Given the description of an element on the screen output the (x, y) to click on. 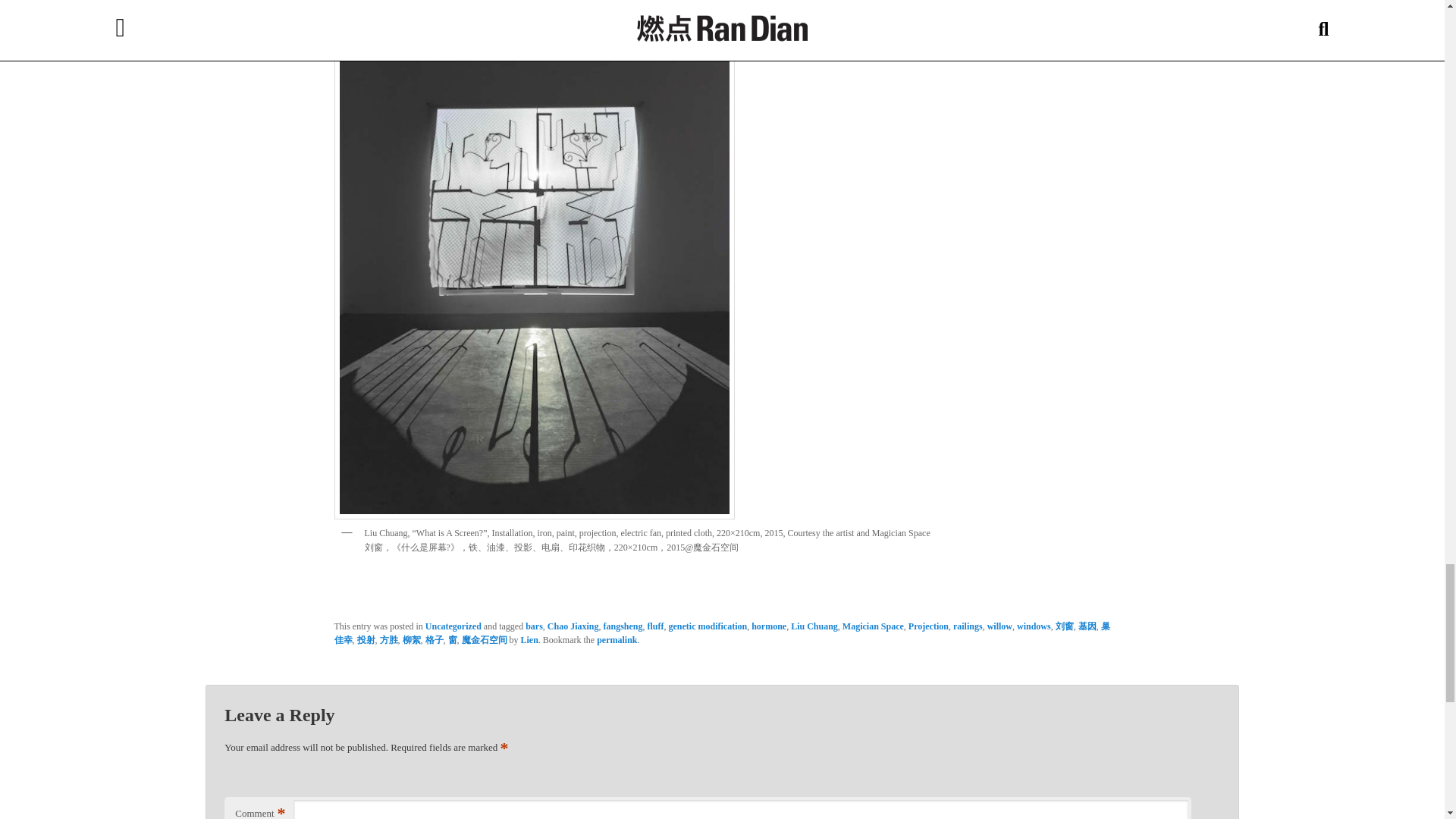
Lien (528, 639)
hormone (768, 625)
genetic modification (708, 625)
bars (534, 625)
fangsheng (622, 625)
Liu Chuang (814, 625)
Magician Space (873, 625)
Projection (928, 625)
permalink (616, 639)
fluff (655, 625)
Chao Jiaxing (572, 625)
Uncategorized (453, 625)
willow (999, 625)
Permalink to Liu Chuang Review (616, 639)
windows (1033, 625)
